Given the description of an element on the screen output the (x, y) to click on. 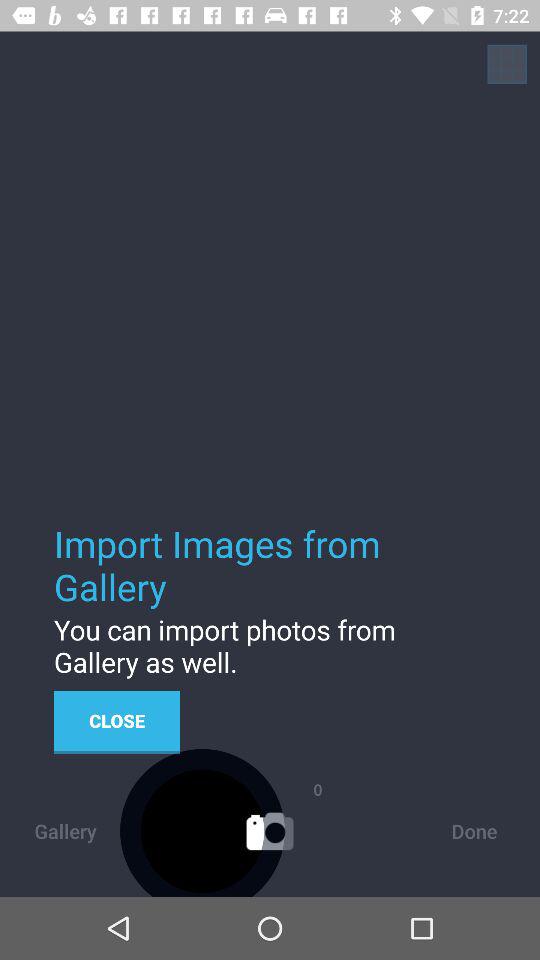
open the menu (507, 64)
